Given the description of an element on the screen output the (x, y) to click on. 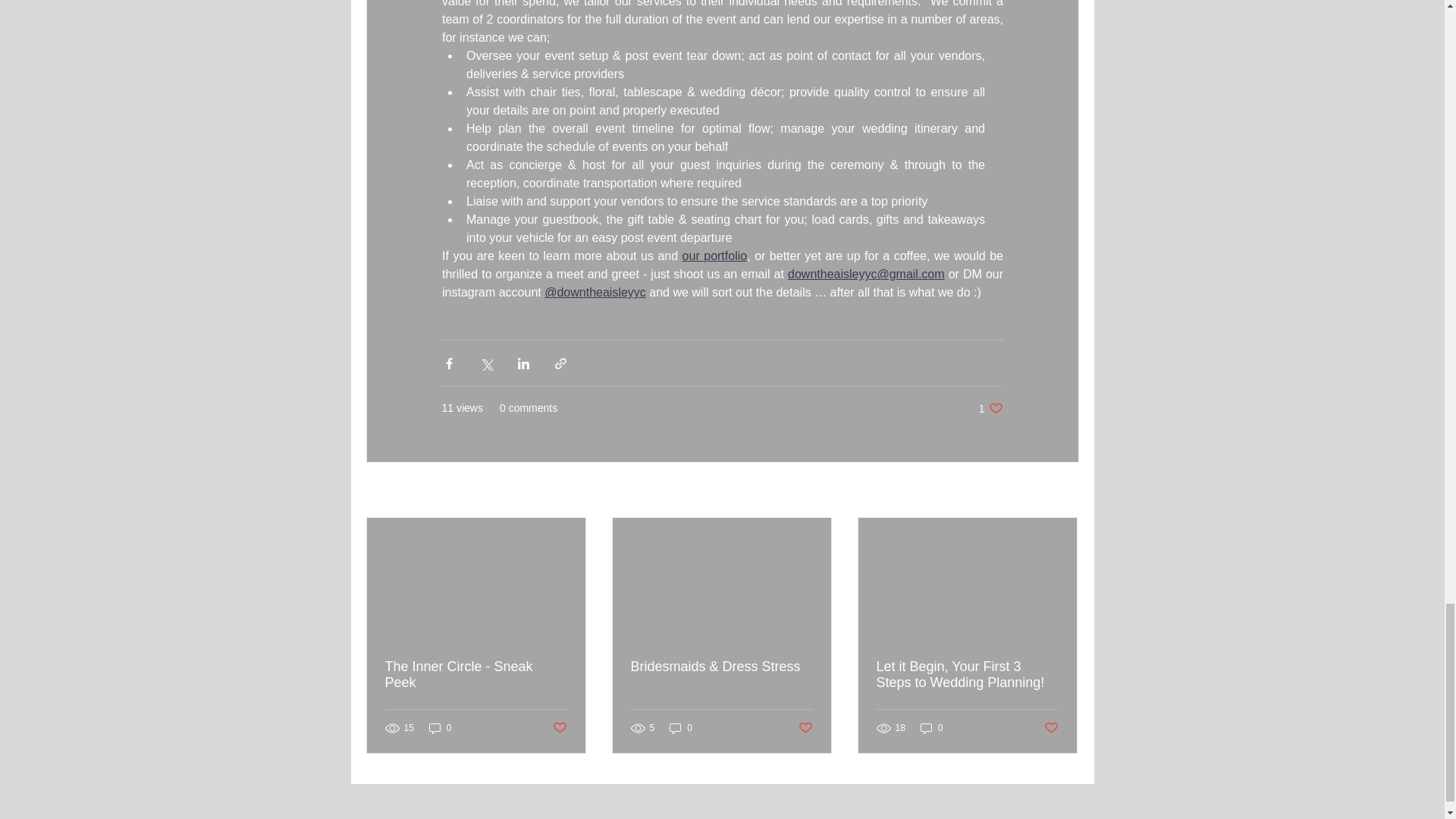
Post not marked as liked (558, 728)
Post not marked as liked (804, 728)
Let it Begin, Your First 3 Steps to Wedding Planning! (967, 675)
Post not marked as liked (990, 408)
0 (1050, 728)
our portfolio (681, 728)
The Inner Circle - Sneak Peek (713, 255)
See All (476, 675)
0 (1061, 490)
